Given the description of an element on the screen output the (x, y) to click on. 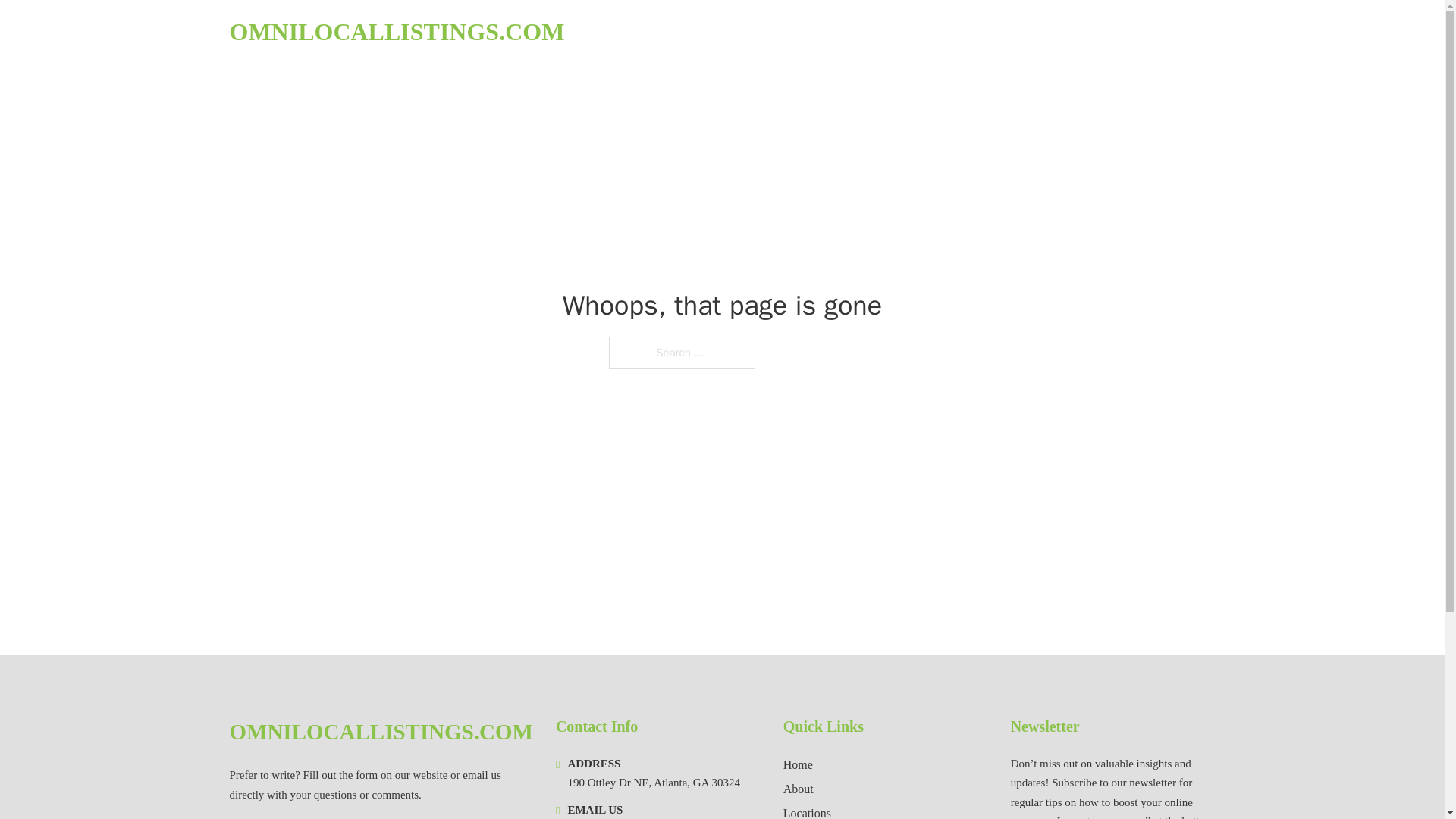
Home (797, 764)
HOME (1010, 31)
About (798, 788)
LOCATIONS (1082, 31)
OMNILOCALLISTINGS.COM (396, 31)
Locations (807, 811)
OMNILOCALLISTINGS.COM (380, 732)
